Given the description of an element on the screen output the (x, y) to click on. 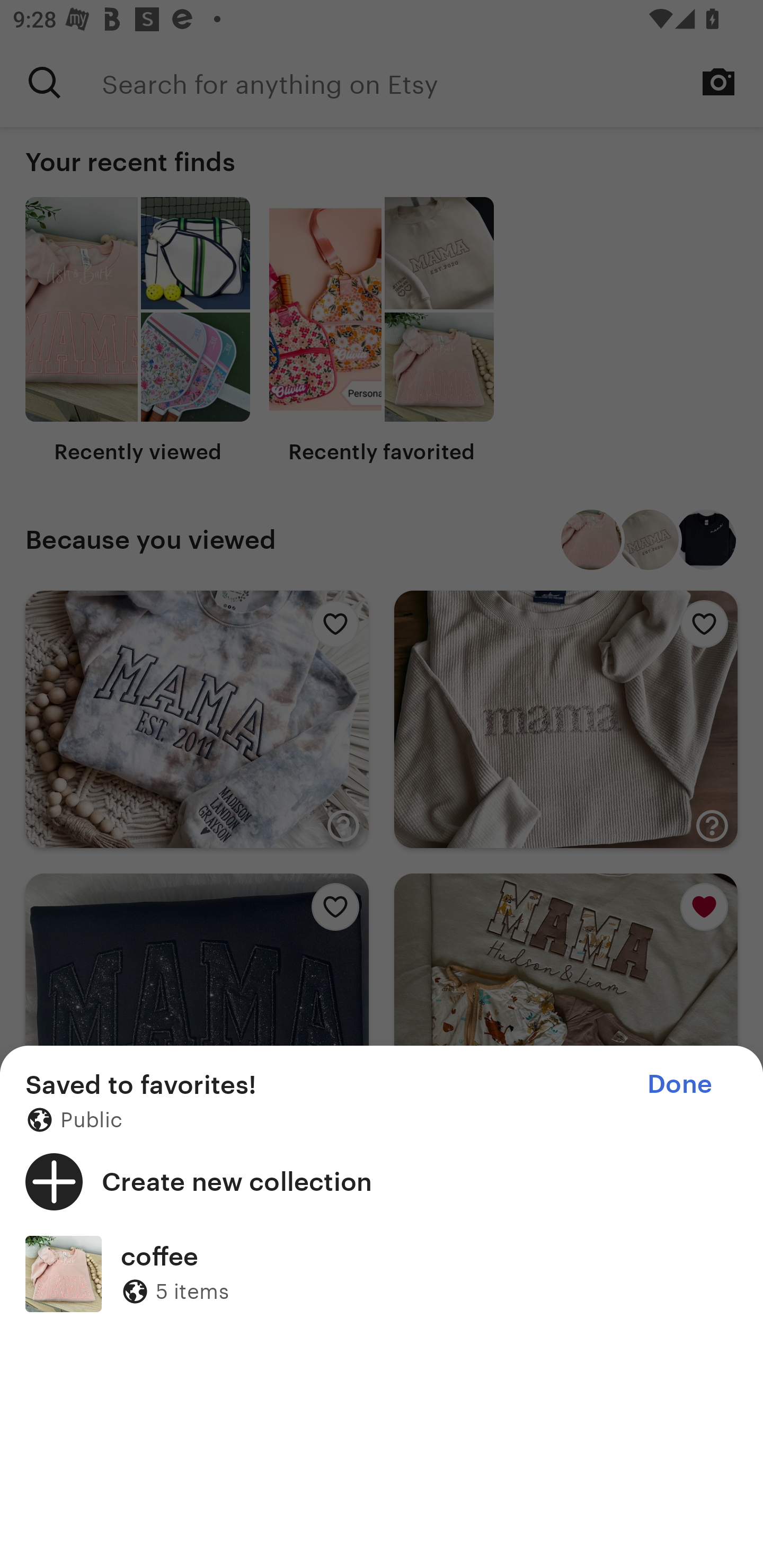
Done (679, 1083)
Create new collection (381, 1181)
coffee 5 items (381, 1273)
